Given the description of an element on the screen output the (x, y) to click on. 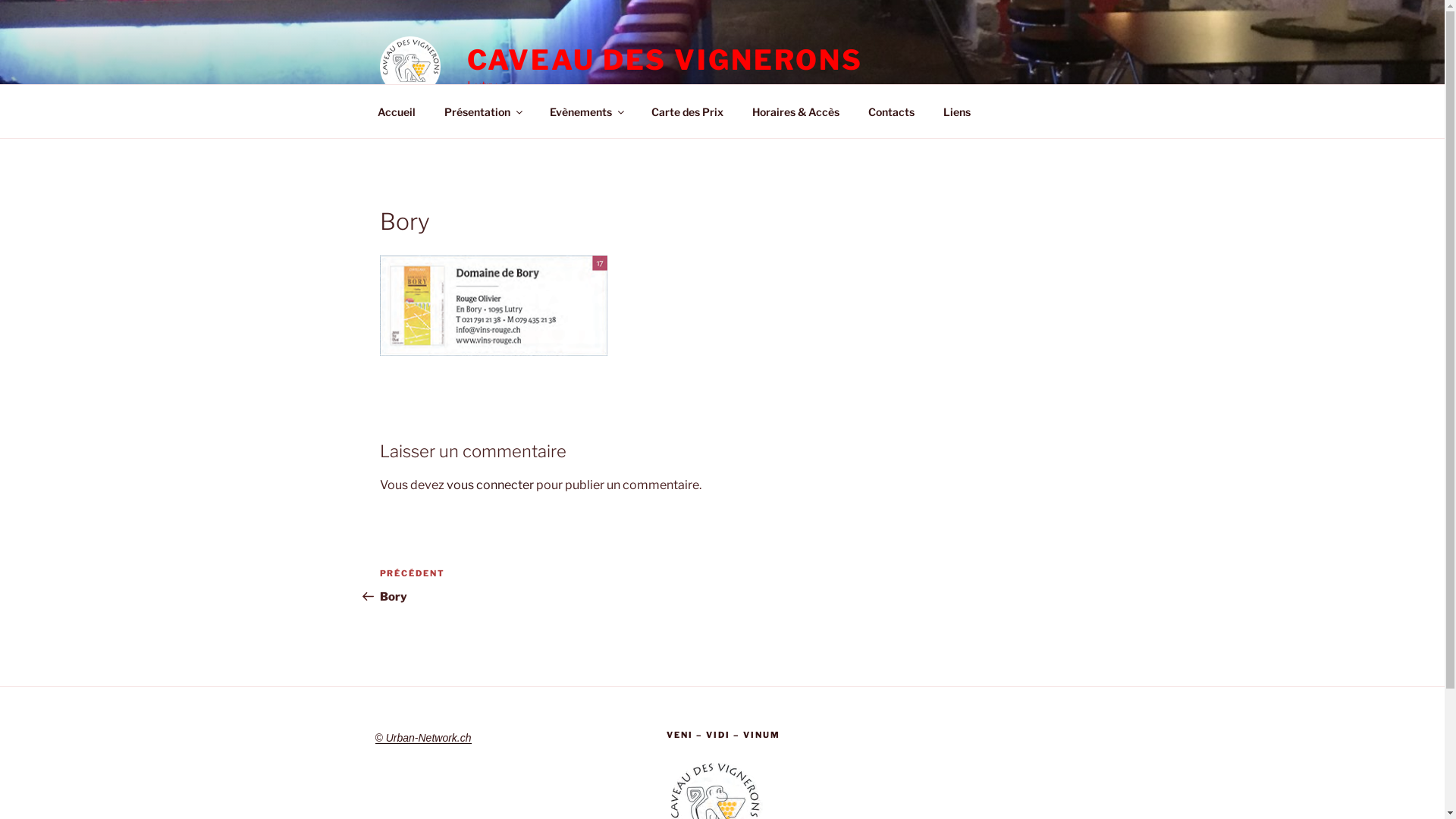
Liens Element type: text (956, 110)
Carte des Prix Element type: text (687, 110)
Contacts Element type: text (891, 110)
CAVEAU DES VIGNERONS Element type: text (665, 59)
vous connecter Element type: text (489, 484)
Accueil Element type: text (396, 110)
